Given the description of an element on the screen output the (x, y) to click on. 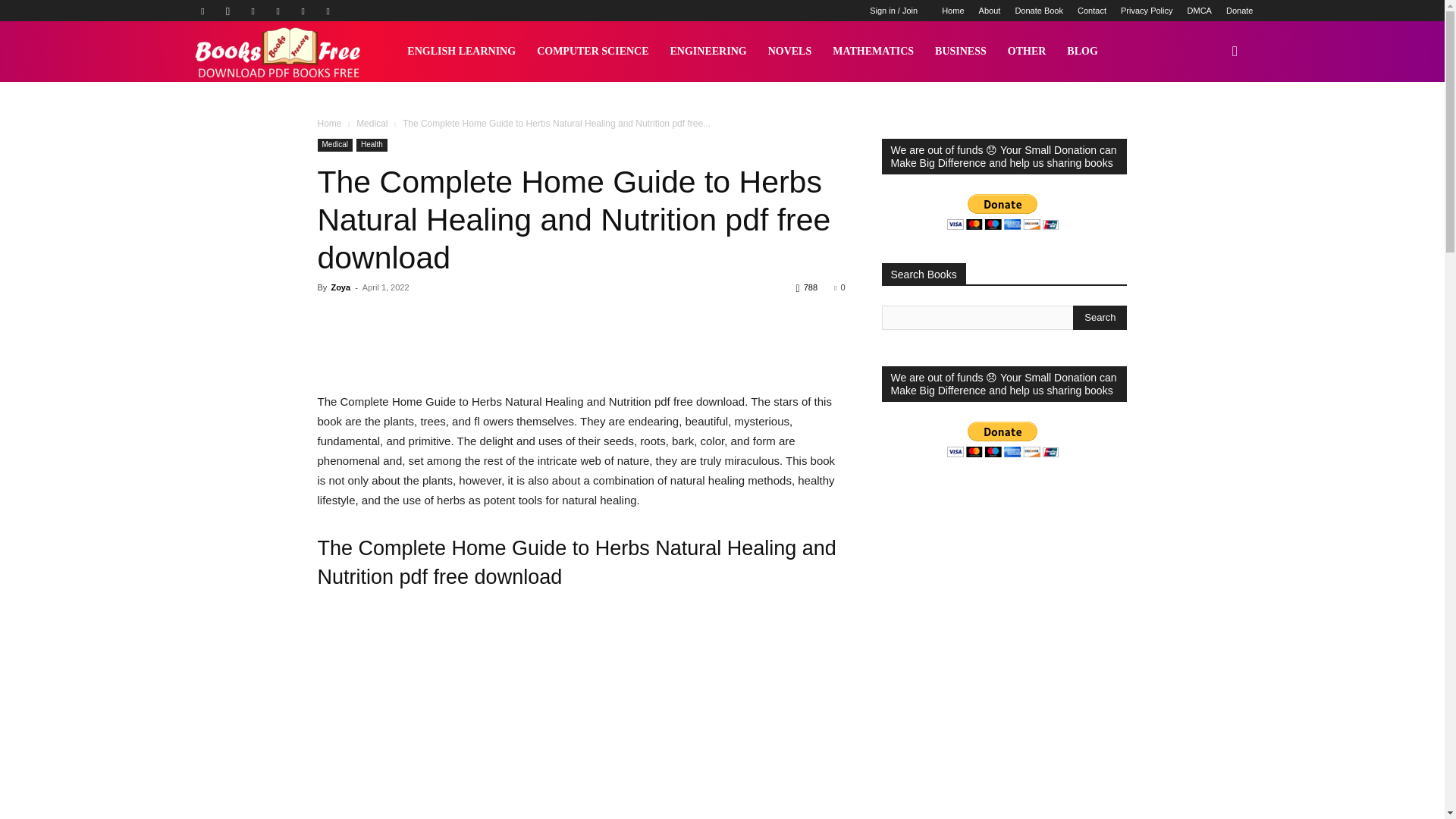
Paypal (252, 10)
Youtube (328, 10)
Search (1099, 317)
Twitter (303, 10)
Instagram (228, 10)
Pinterest (277, 10)
Facebook (202, 10)
